Given the description of an element on the screen output the (x, y) to click on. 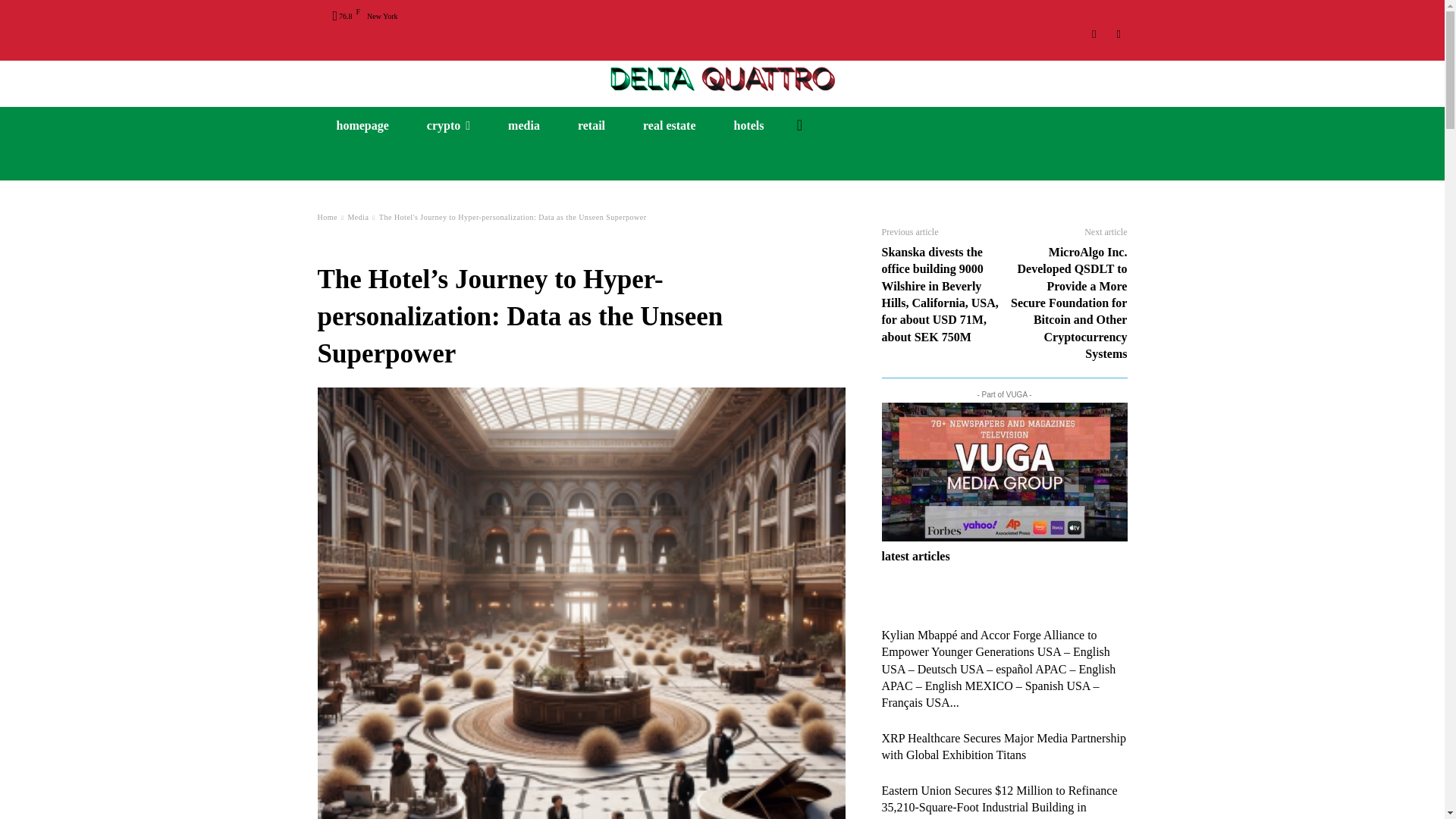
crypto (448, 125)
media (524, 125)
Facebook (1117, 34)
Delta Quattro (721, 77)
hotels (748, 125)
homepage (362, 125)
Delta Quattro (721, 77)
real estate (669, 125)
retail (591, 125)
Instagram (1094, 34)
